Given the description of an element on the screen output the (x, y) to click on. 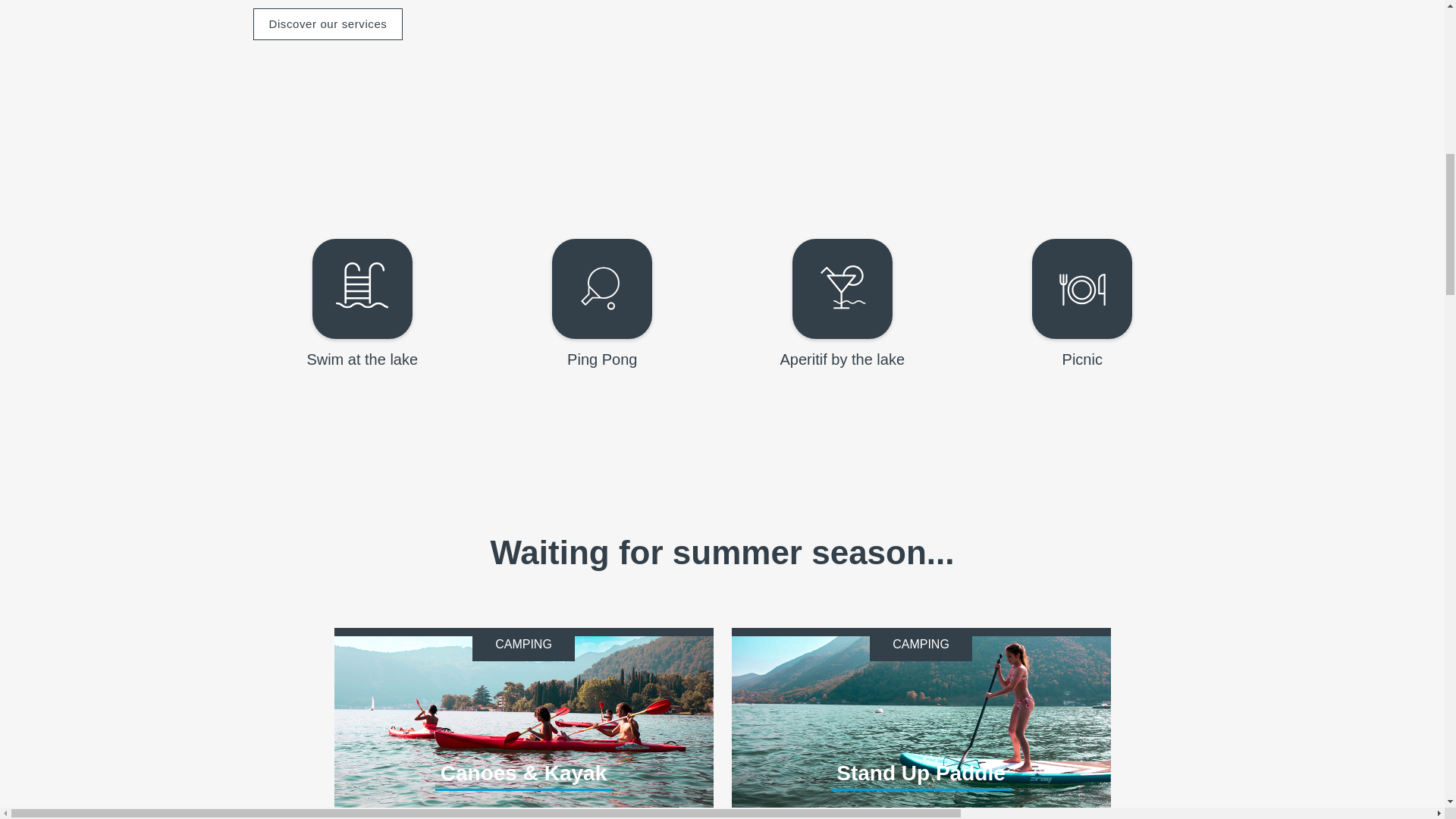
Ping Pong (602, 288)
Picnic (1082, 288)
Swim at the lake (362, 288)
Aperitif by the lake (841, 288)
